Given the description of an element on the screen output the (x, y) to click on. 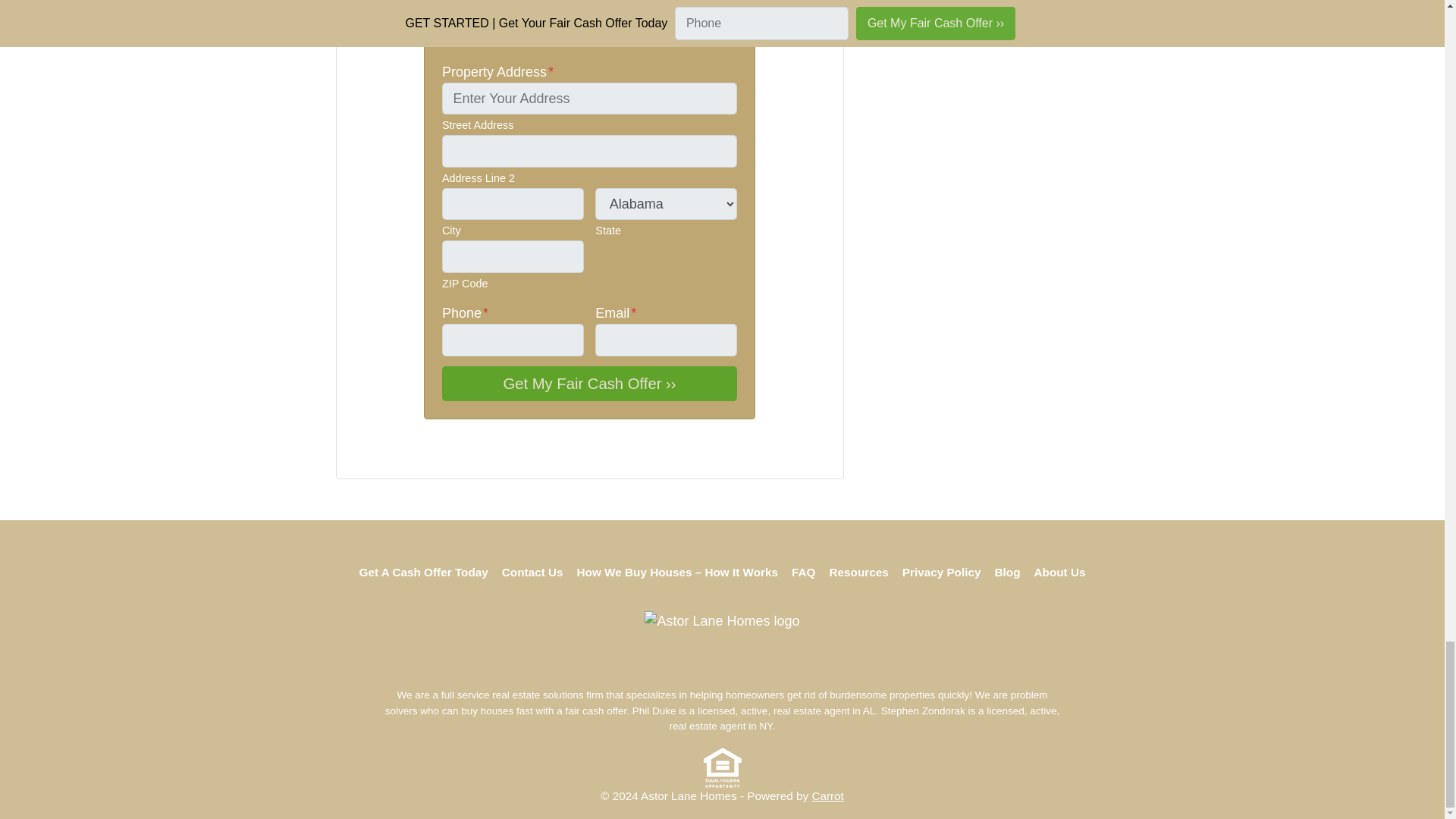
Facebook (360, 453)
YouTube (379, 453)
Zillow (415, 453)
Instagram (397, 453)
